Given the description of an element on the screen output the (x, y) to click on. 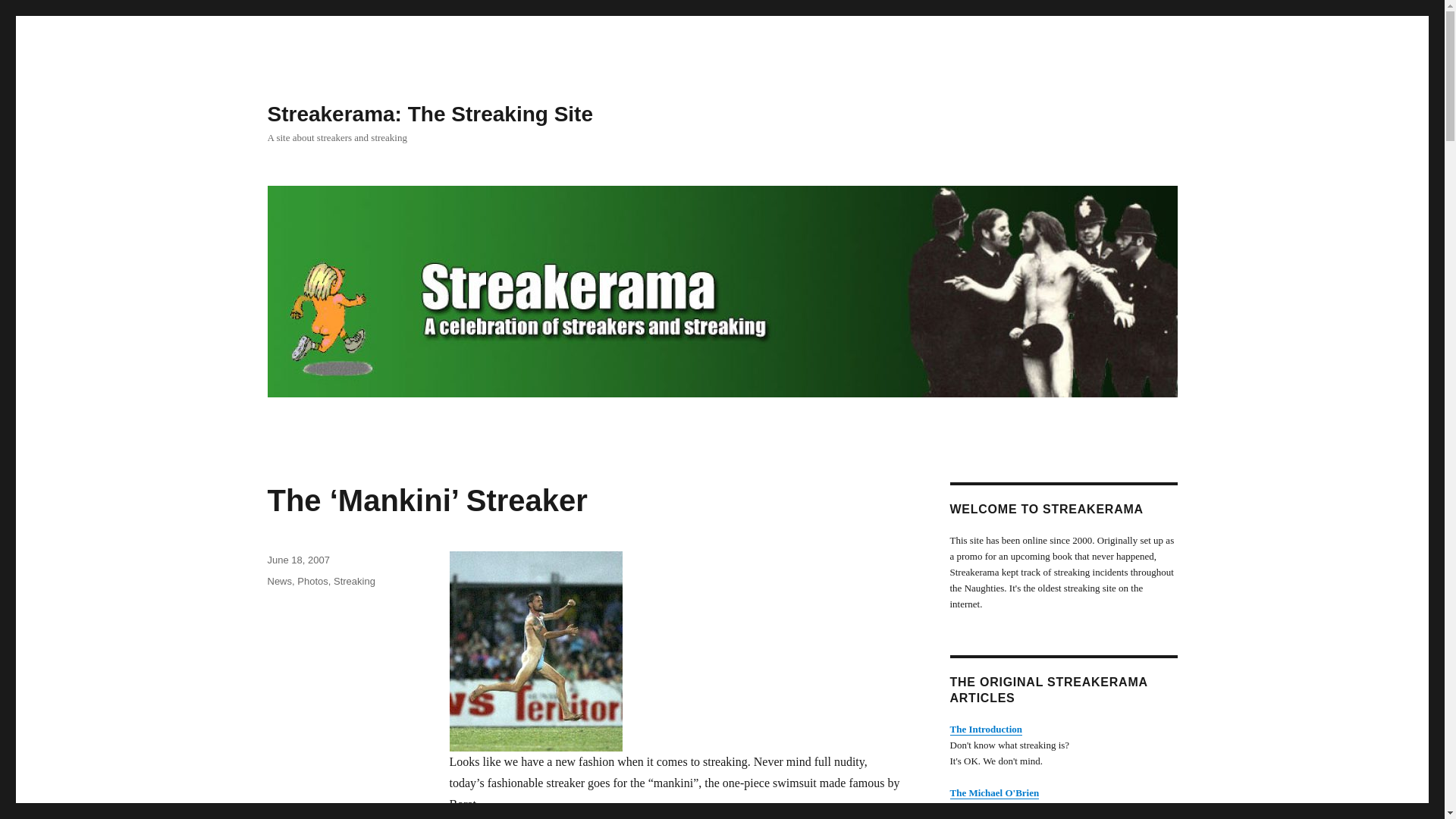
Streaking (354, 581)
June 18, 2007 (297, 559)
Photos (312, 581)
Streakerama: The Streaking Site (429, 114)
News (279, 581)
